Given the description of an element on the screen output the (x, y) to click on. 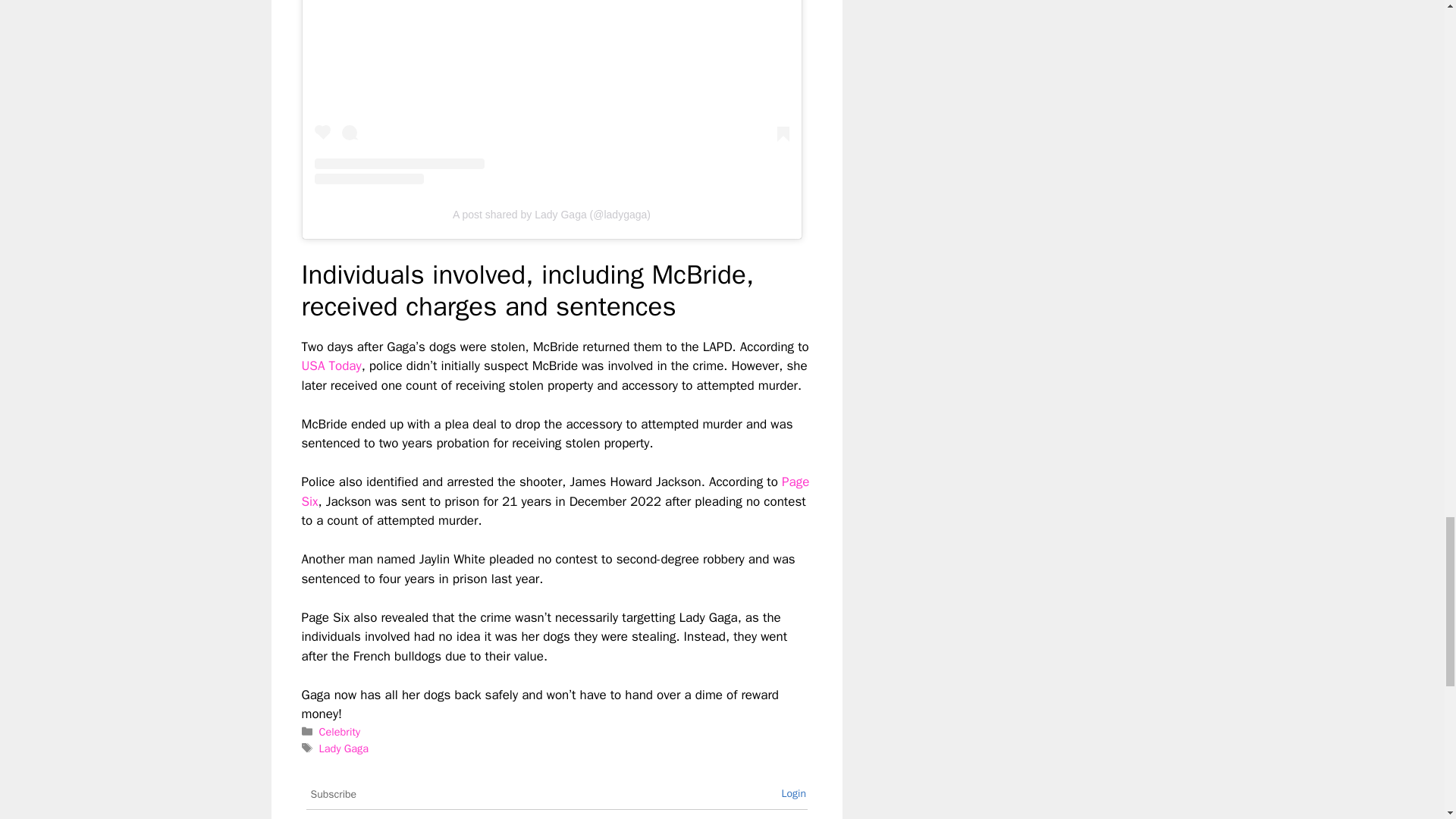
Lady Gaga (343, 748)
View this post on Instagram (551, 92)
Celebrity (338, 731)
USA Today (331, 365)
Login (793, 793)
Page Six (555, 491)
